Given the description of an element on the screen output the (x, y) to click on. 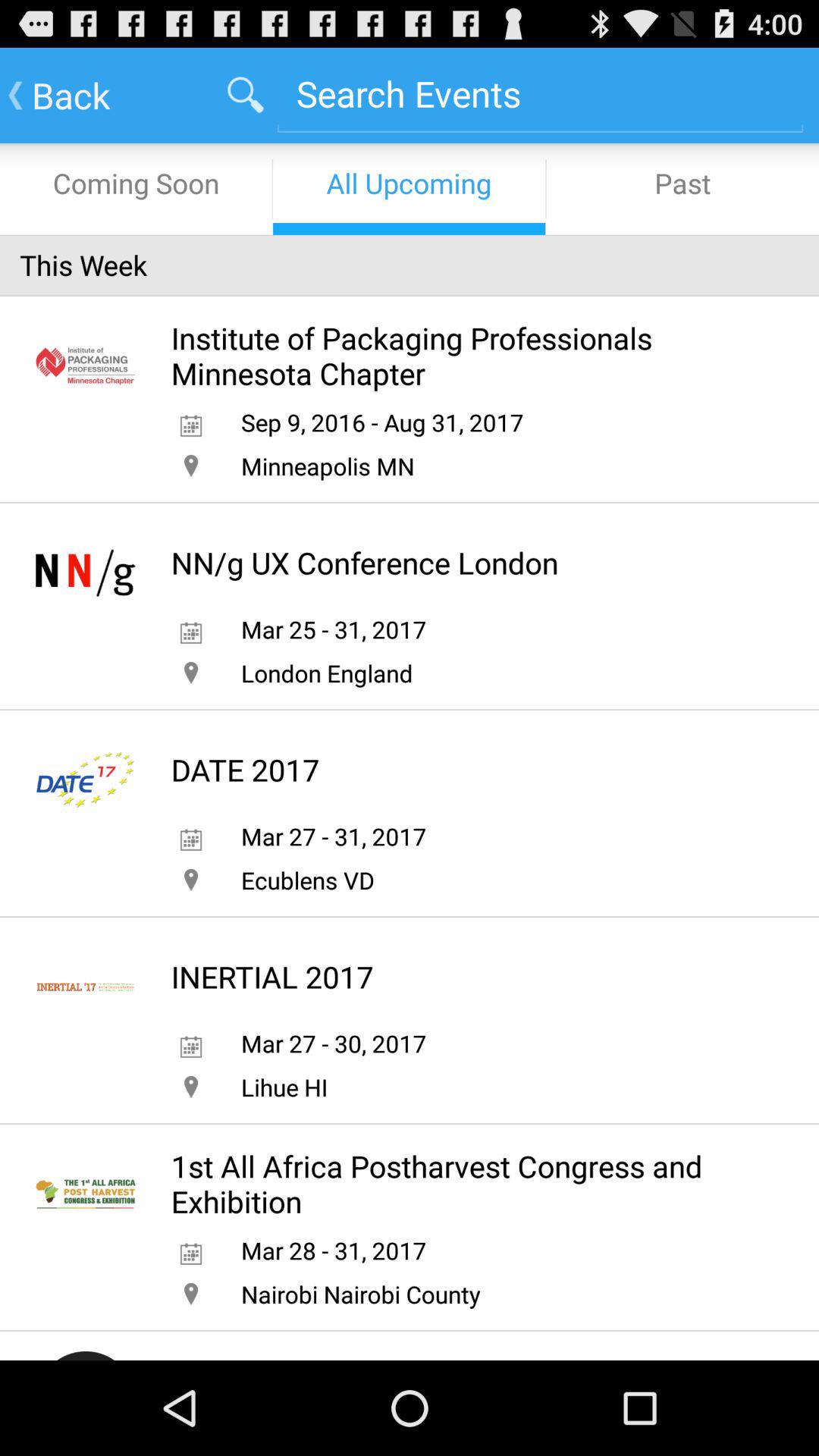
turn off nn g ux icon (364, 562)
